Given the description of an element on the screen output the (x, y) to click on. 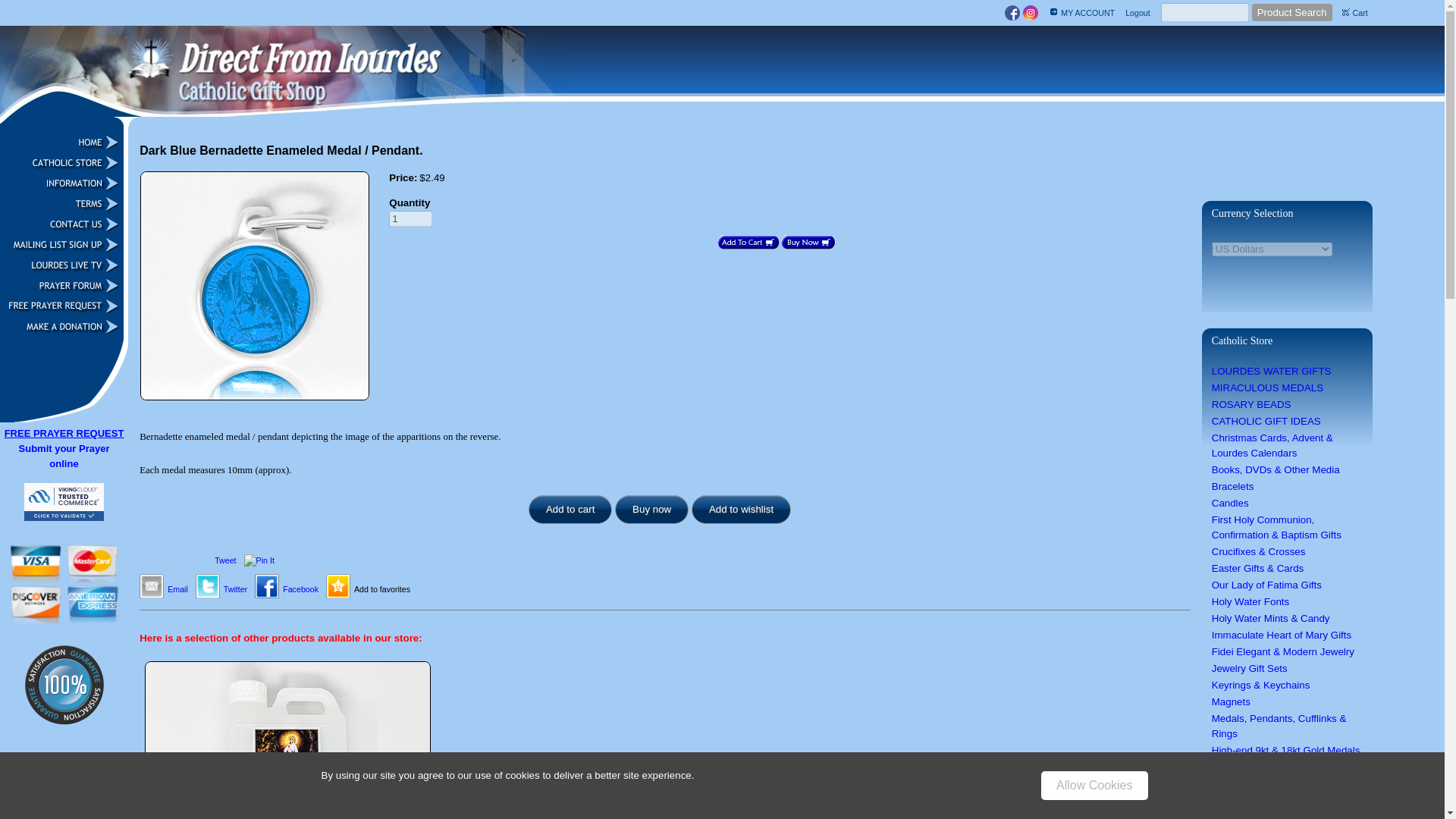
Tweet (225, 560)
Add to favorites (381, 589)
FREE PRAYER REQUEST (63, 432)
Cart (1361, 11)
Email (177, 589)
Add to wishlist (740, 509)
Add to cart (569, 509)
MY ACCOUNT (1088, 11)
Facebook (300, 589)
1 (410, 218)
Allow Cookies (1094, 785)
Logout (1138, 11)
Product Search (1292, 12)
Product Search (1292, 12)
Twitter (235, 589)
